Given the description of an element on the screen output the (x, y) to click on. 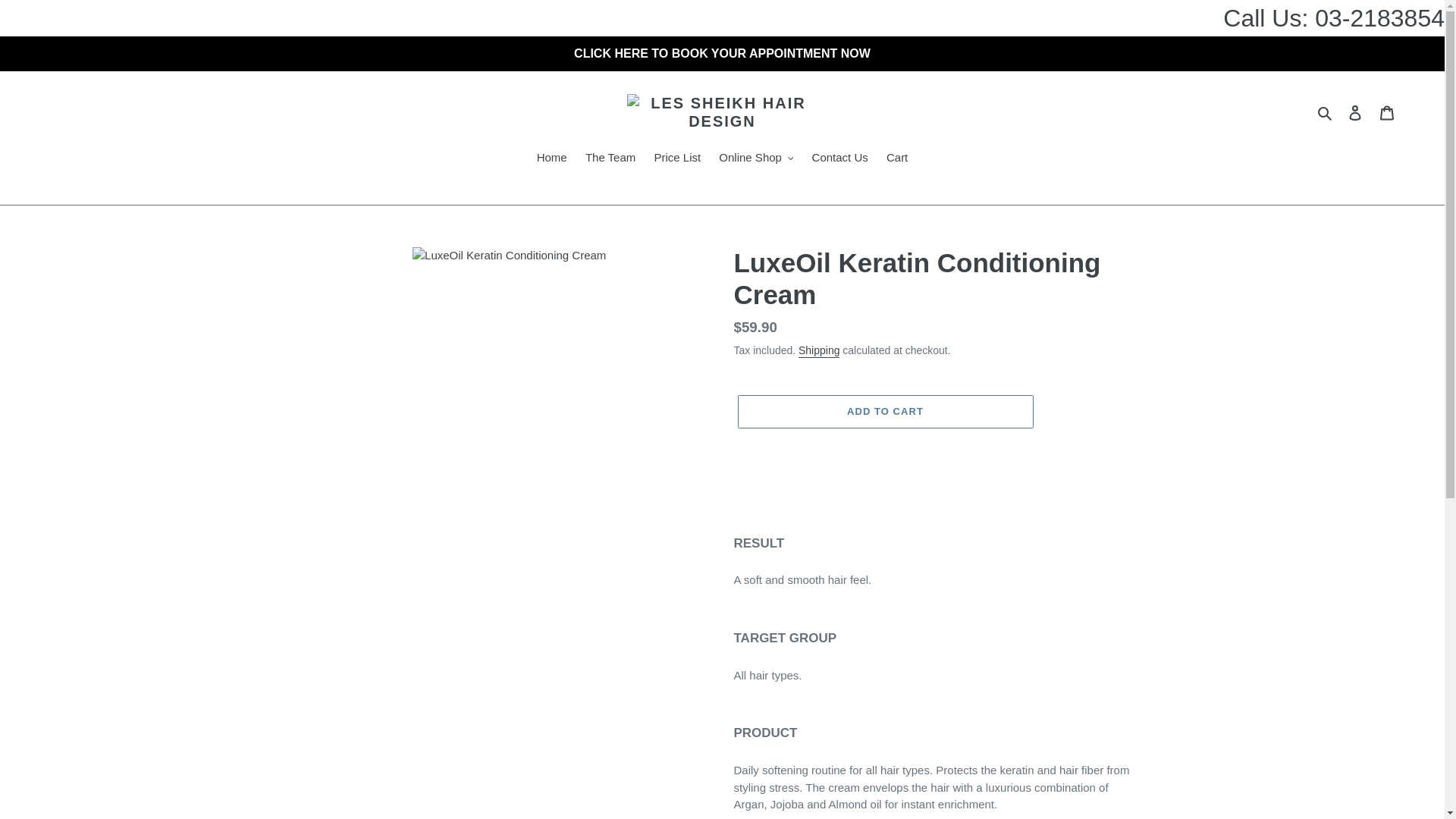
Home (552, 158)
Price List (676, 158)
Cart (1387, 112)
The Team (610, 158)
Log in (1355, 112)
Search (1326, 112)
Online Shop (755, 158)
